Given the description of an element on the screen output the (x, y) to click on. 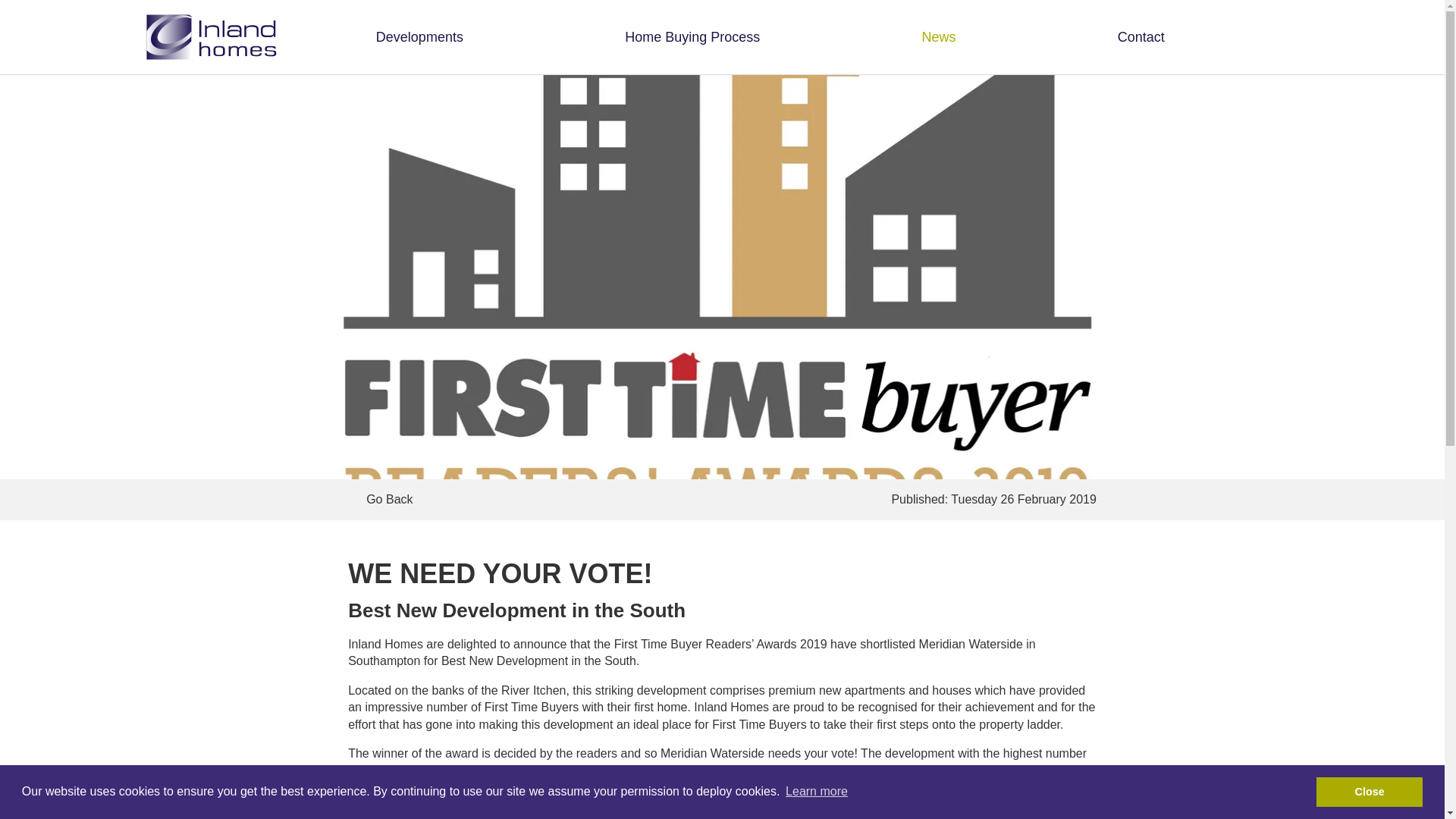
Modern Slavery and Human Trafficking Statement (300, 756)
News (265, 432)
Go Back (531, 499)
News (265, 432)
Contact (1141, 36)
Consumer Code (505, 486)
Accessibility (426, 756)
Consumer Code (505, 486)
Privacy Notice (171, 756)
Modern Slavery and Human Trafficking Statement (300, 756)
About us (265, 404)
Privacy Notice (171, 756)
Awards (265, 459)
News (938, 36)
Learn more (816, 791)
